Given the description of an element on the screen output the (x, y) to click on. 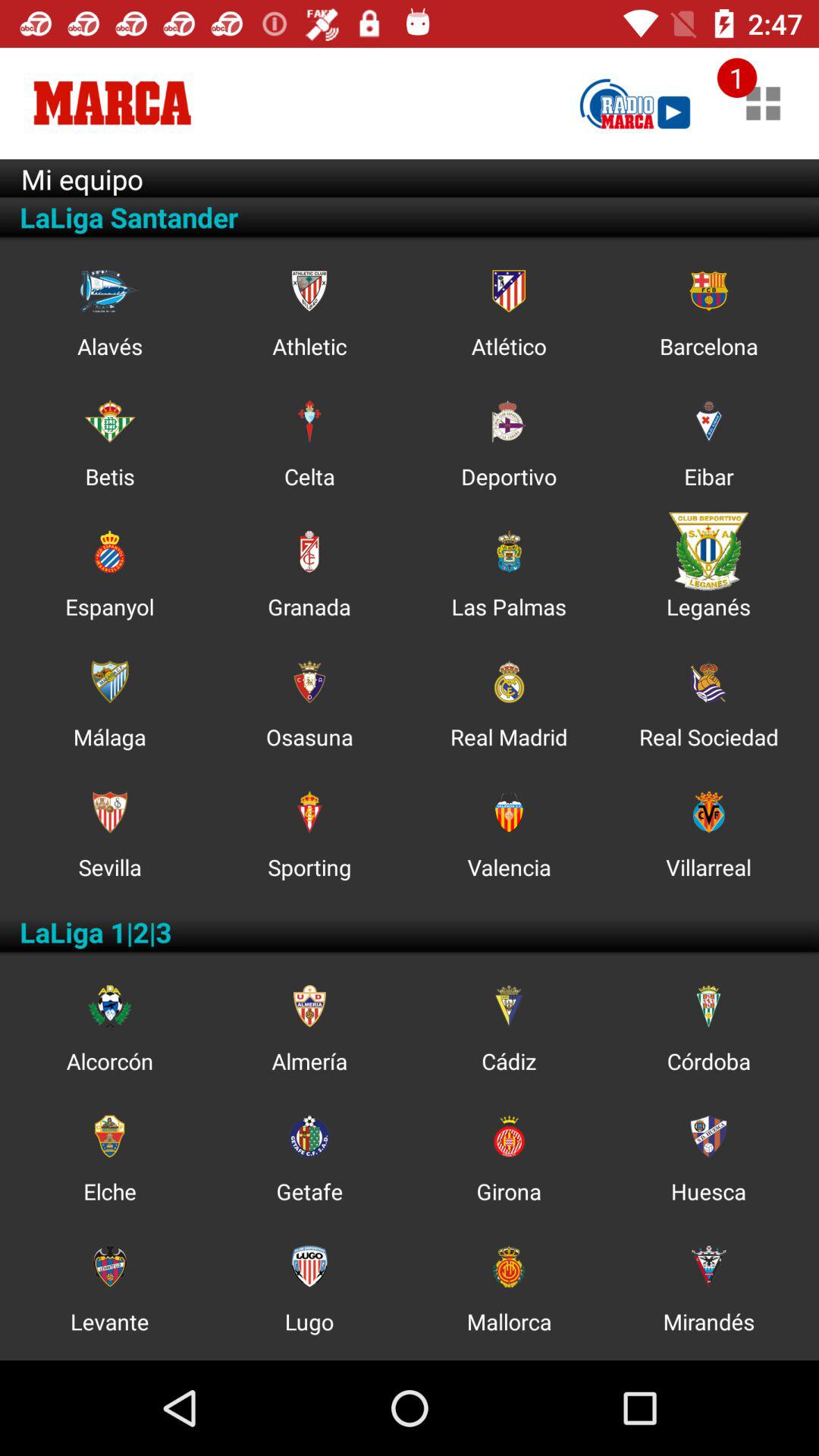
click on the image above alcorcon (109, 1005)
click on the icon which is above the text osasuna (309, 682)
select icon which is above espanyol on page (109, 551)
click on the icon which is above the mallorca (508, 1266)
